Given the description of an element on the screen output the (x, y) to click on. 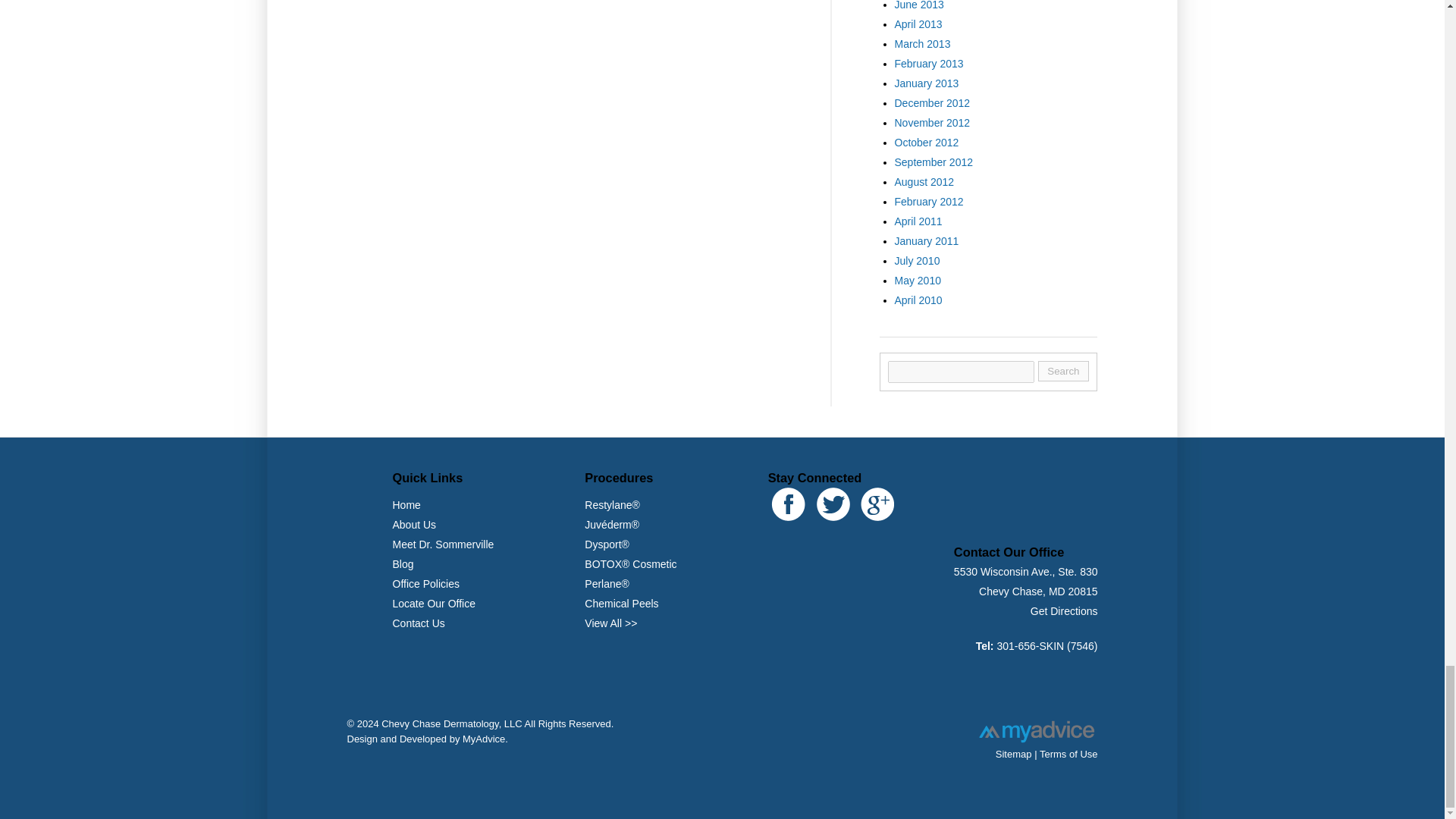
Search (1062, 371)
Search (1062, 371)
